Given the description of an element on the screen output the (x, y) to click on. 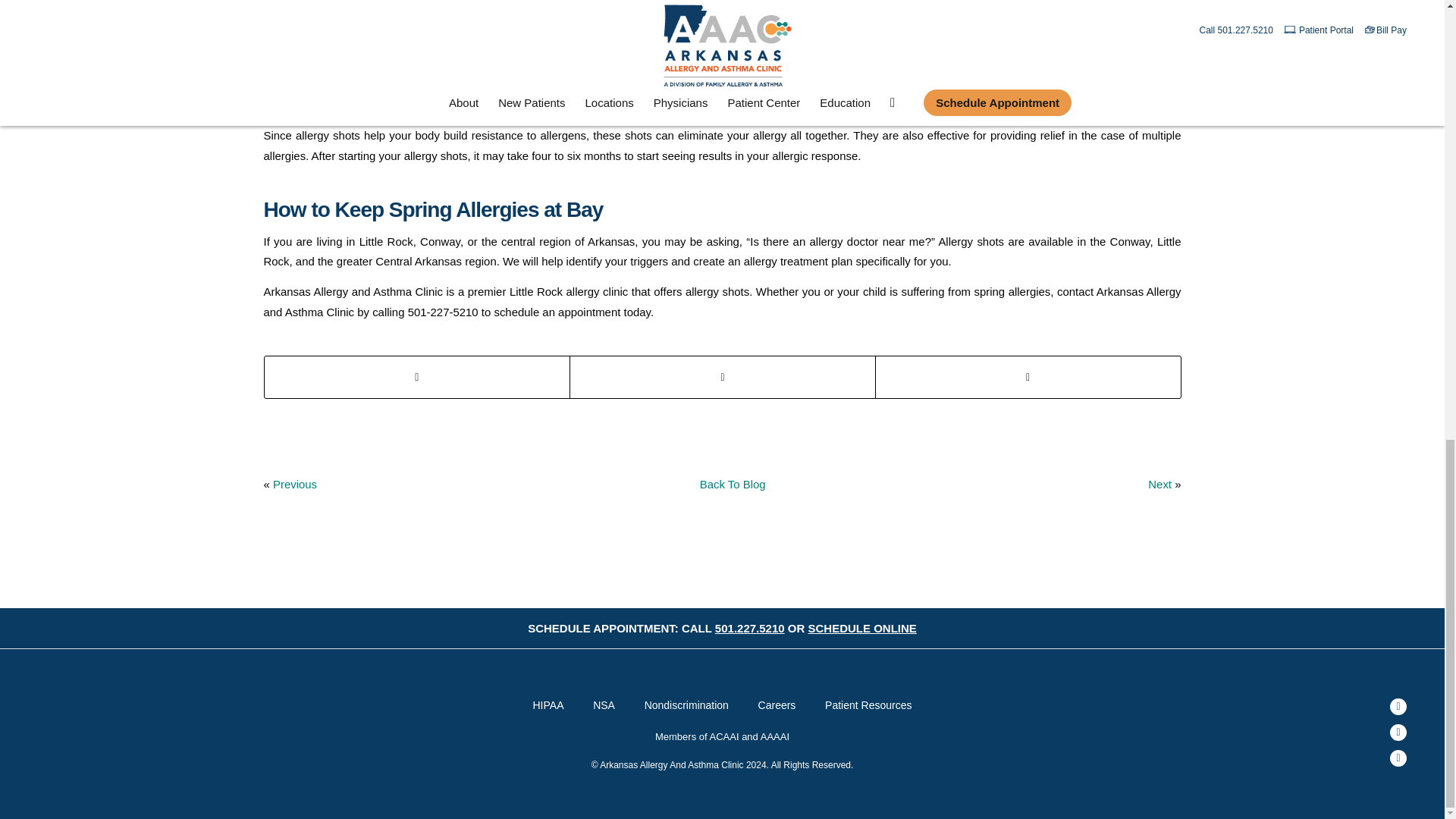
Previous (295, 483)
Youtube (1398, 732)
Instagram (1398, 758)
Facebook (1398, 706)
